Given the description of an element on the screen output the (x, y) to click on. 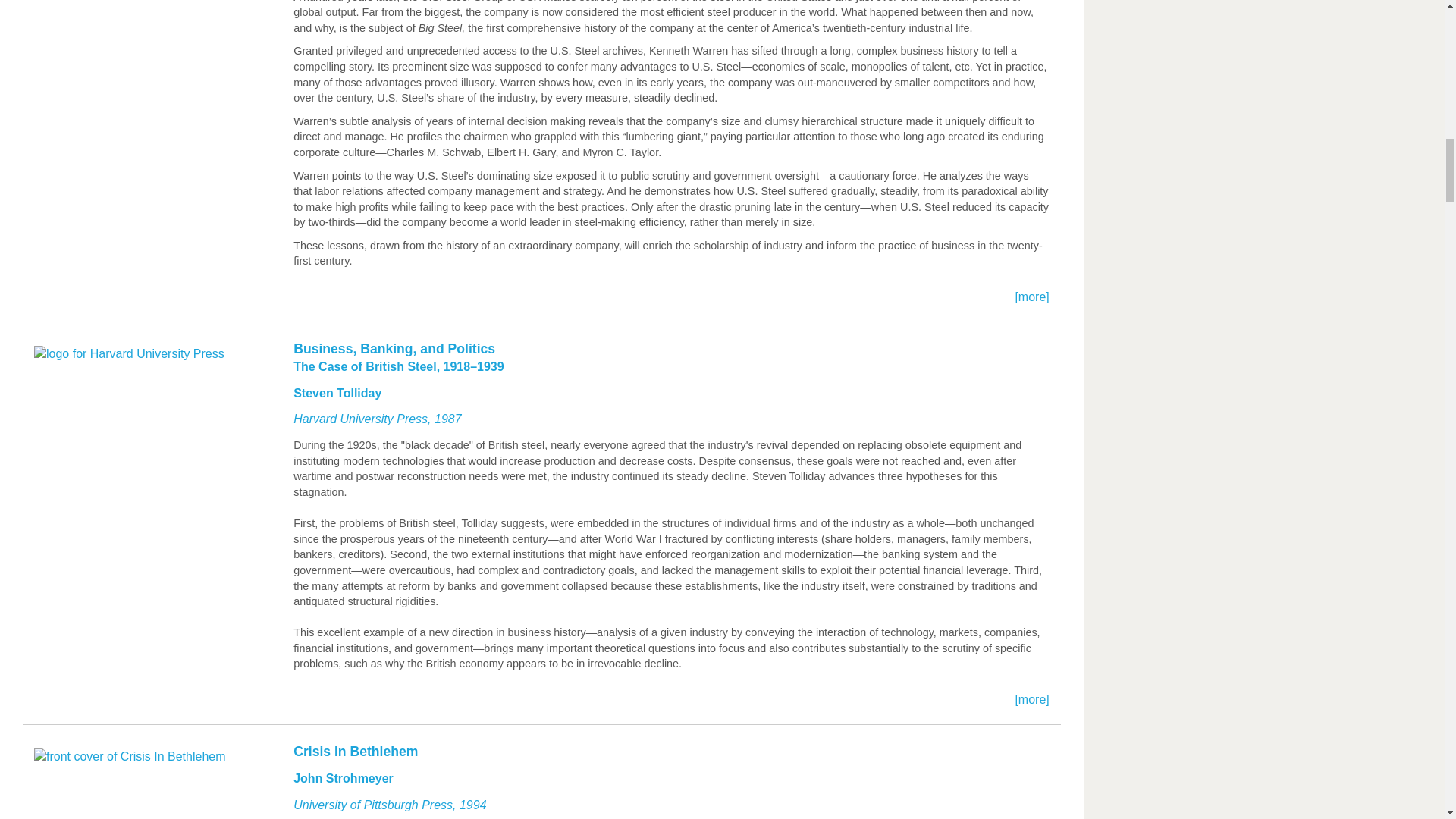
See more information about this book (541, 780)
